Given the description of an element on the screen output the (x, y) to click on. 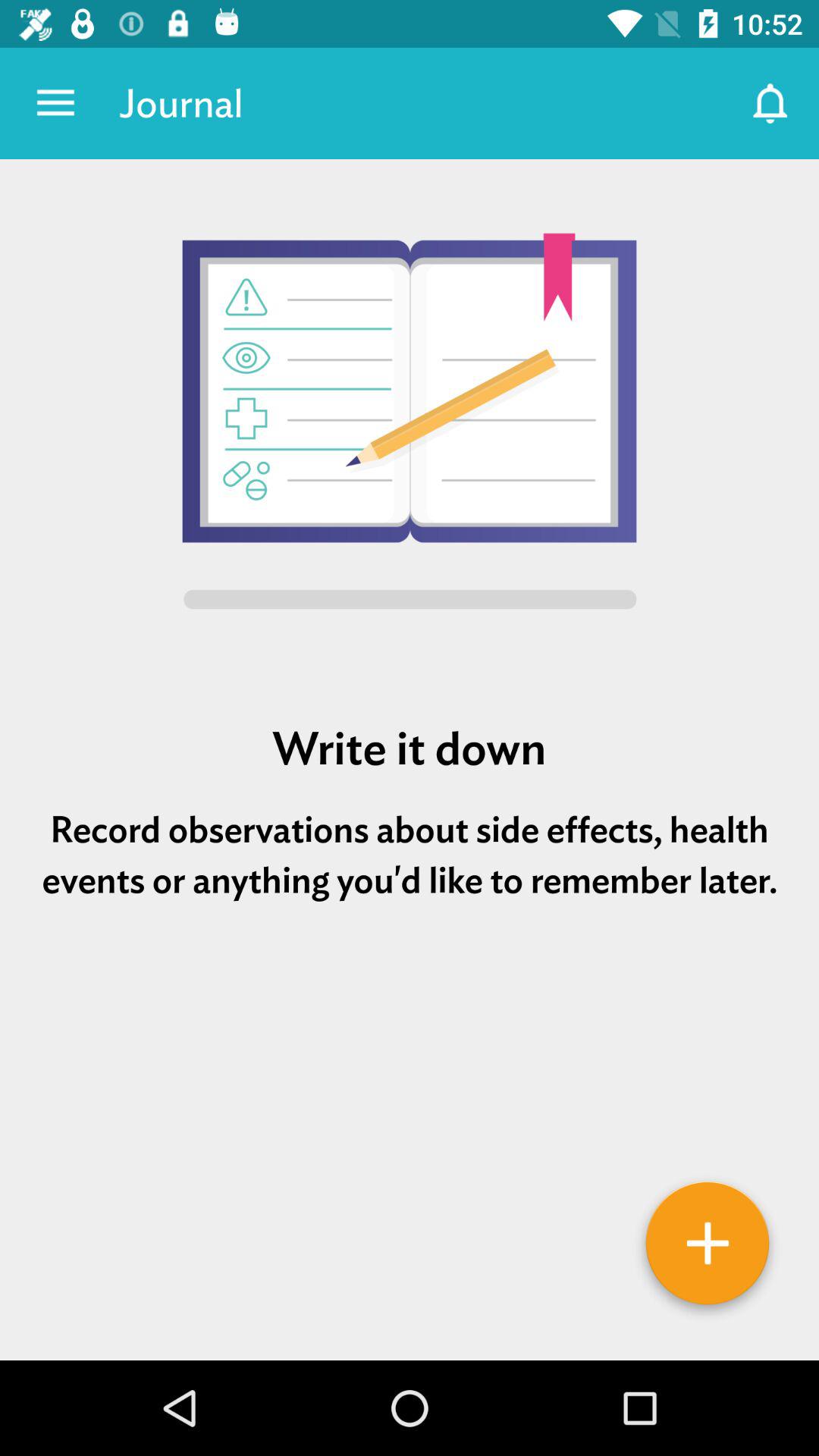
click the icon below the record observations about icon (409, 993)
